Given the description of an element on the screen output the (x, y) to click on. 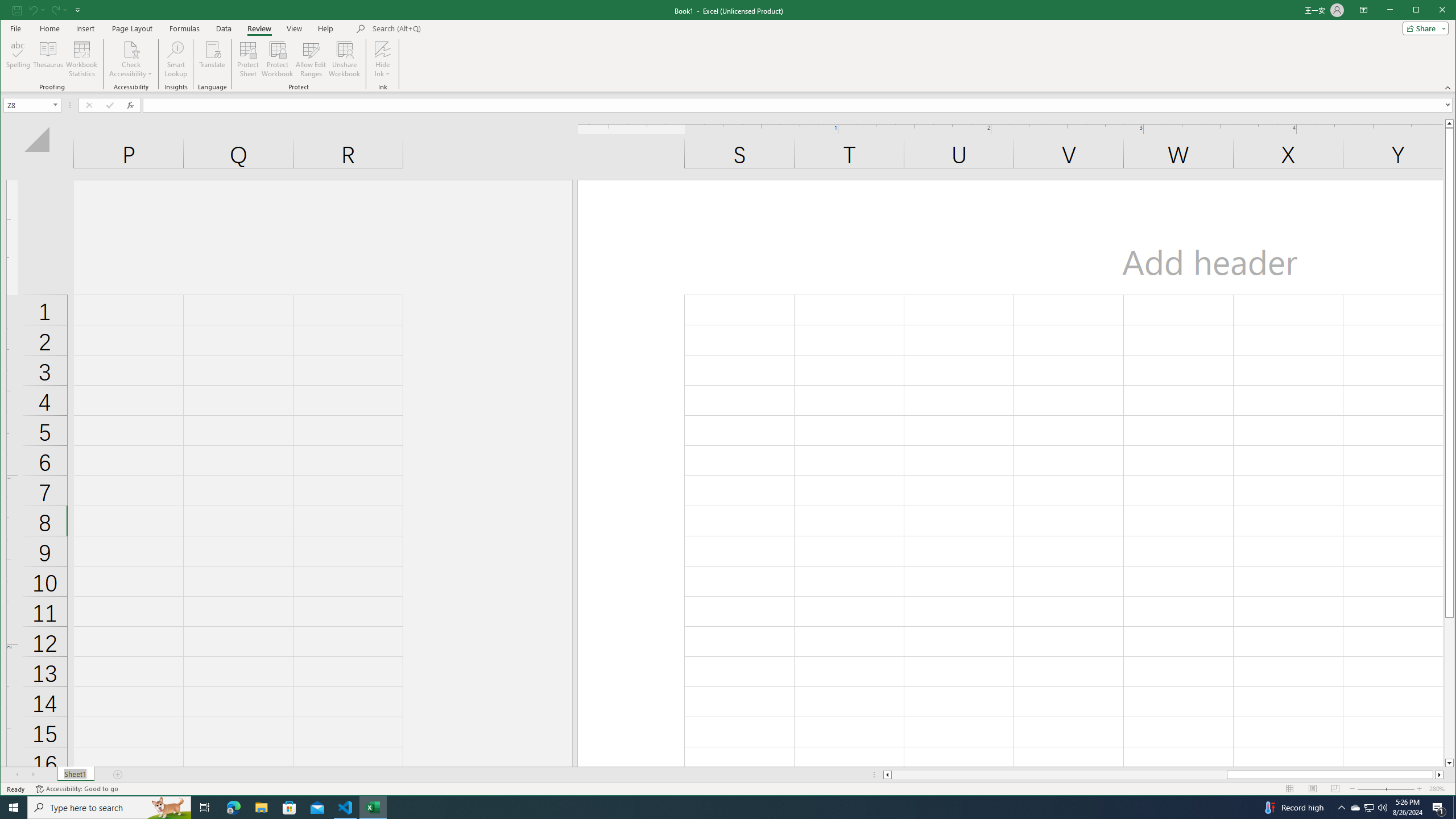
User Promoted Notification Area (1368, 807)
Check Accessibility (130, 59)
Action Center, 1 new notification (1439, 807)
Start (13, 807)
Allow Edit Ranges (310, 59)
Translate (212, 59)
Microsoft Store (289, 807)
